Given the description of an element on the screen output the (x, y) to click on. 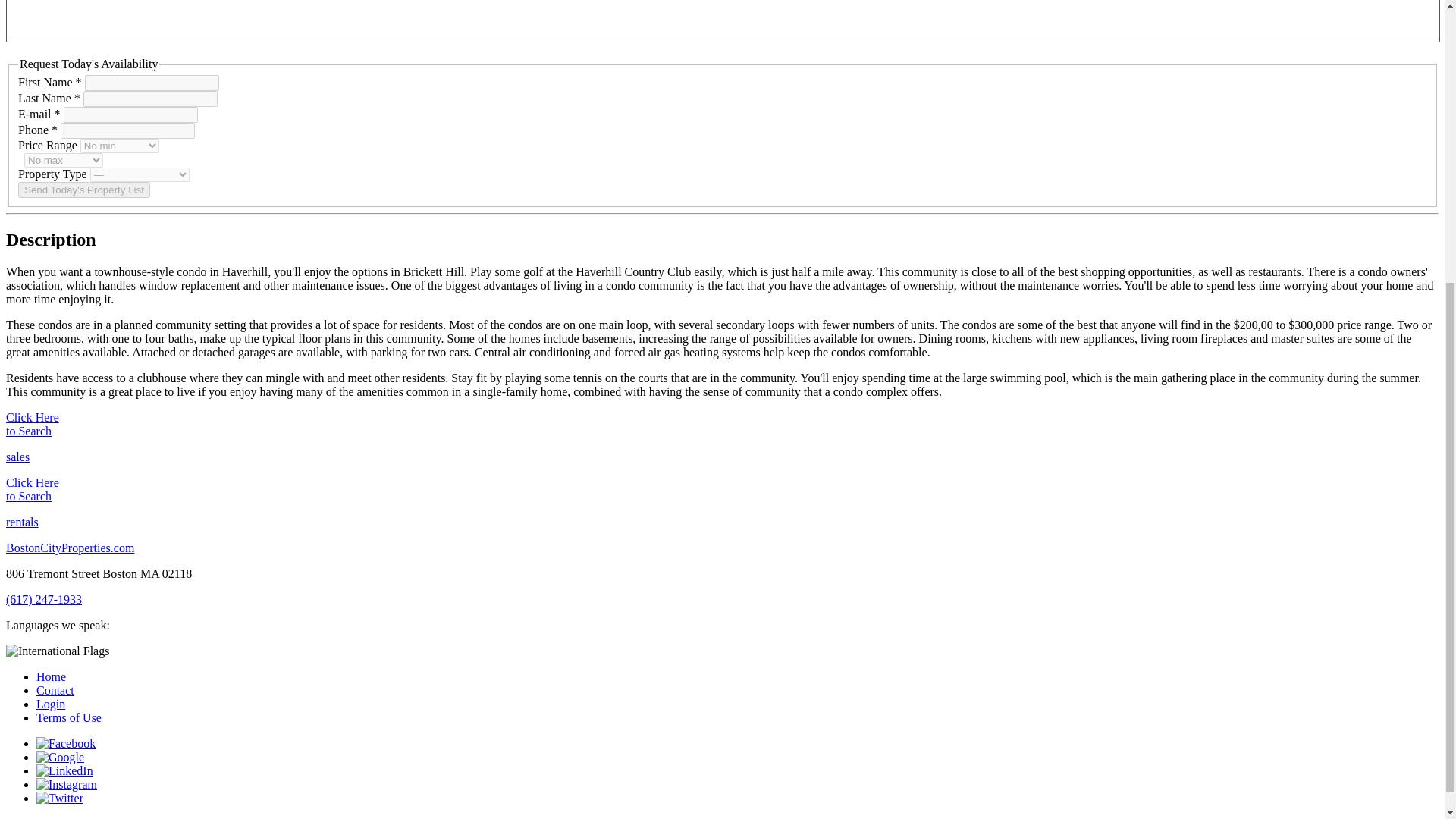
BostonCityProperties.com (69, 547)
Send Today's Property List (83, 189)
Login (50, 703)
Contact (55, 689)
Terms of Use (68, 717)
Home (50, 676)
